Given the description of an element on the screen output the (x, y) to click on. 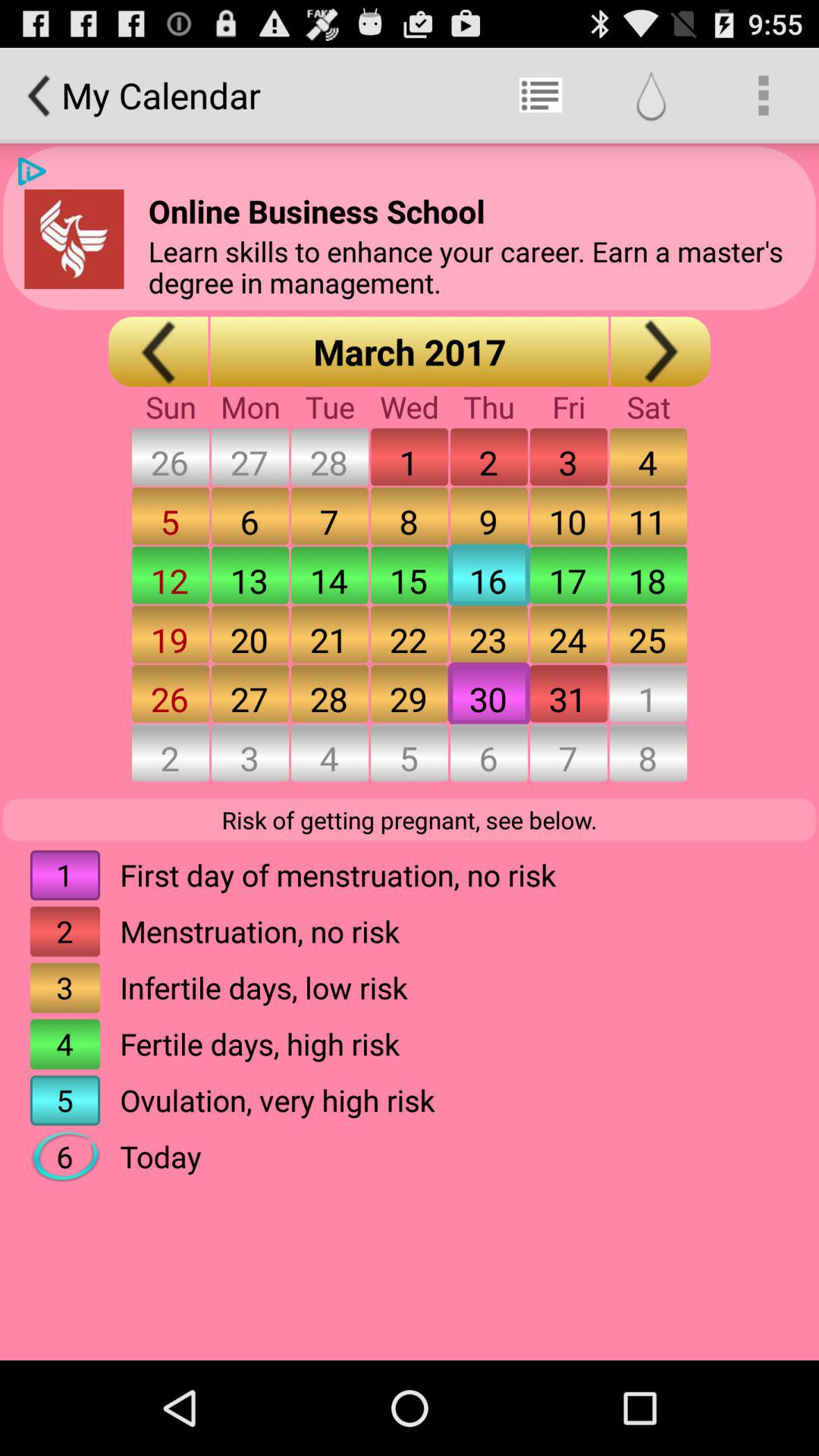
previous month (158, 351)
